Given the description of an element on the screen output the (x, y) to click on. 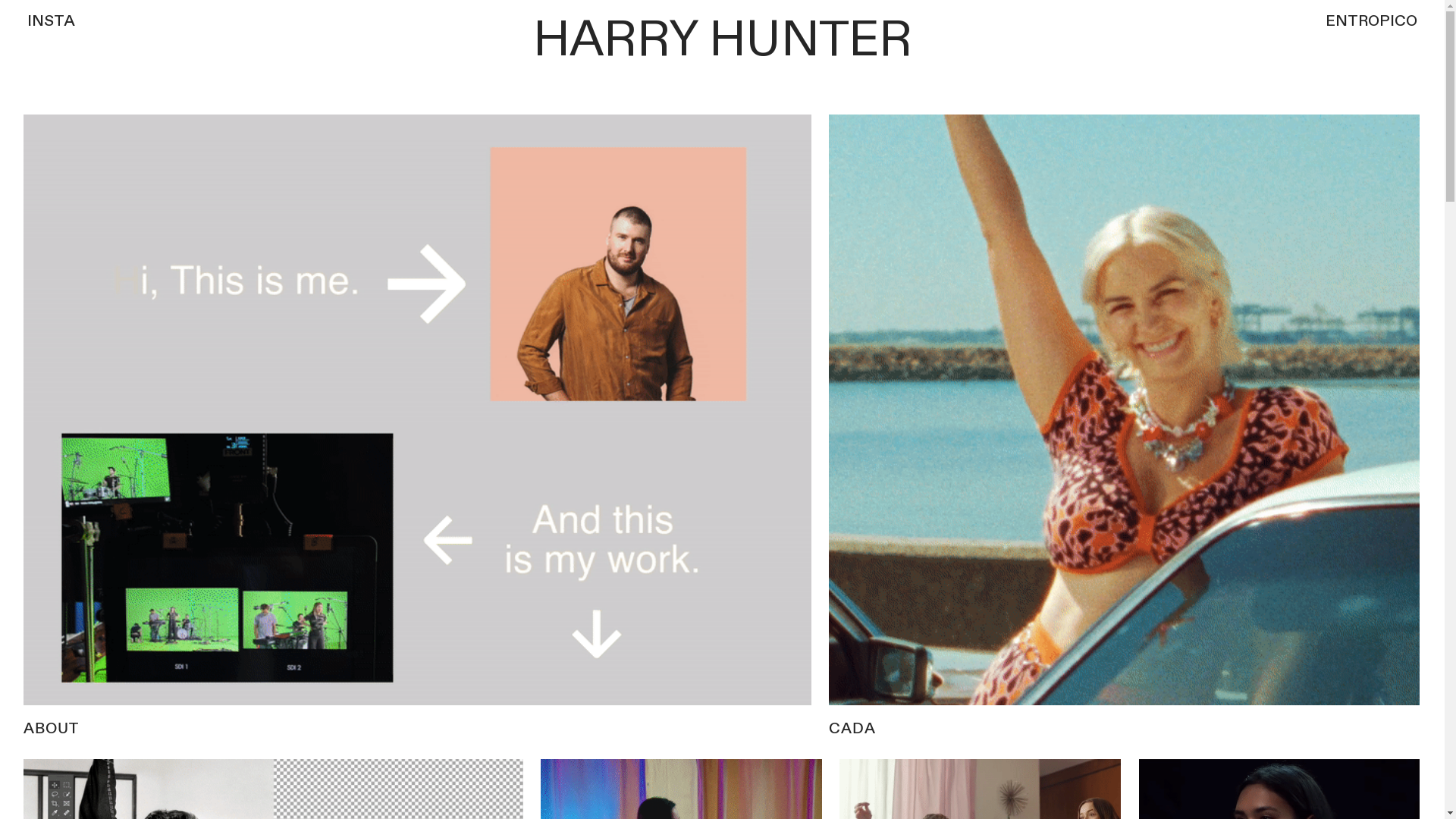
ENTROPICO Element type: text (1371, 20)
HARRY HUNTER Element type: text (722, 39)
CADA Element type: text (1123, 425)
INSTA Element type: text (50, 20)
ABOUT Element type: text (417, 425)
